Given the description of an element on the screen output the (x, y) to click on. 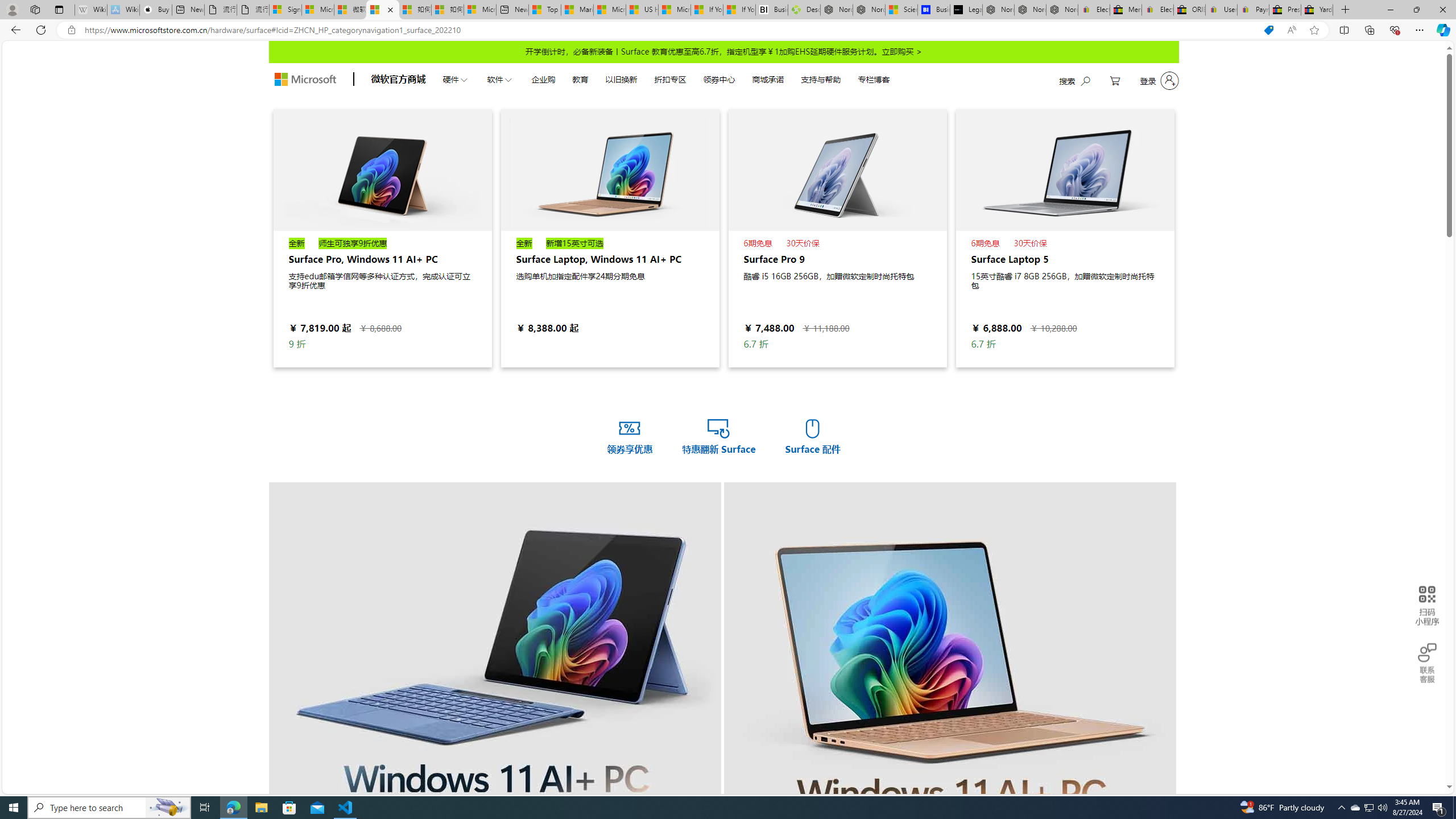
Sign in to your Microsoft account (285, 9)
Marine life - MSN (577, 9)
Microsoft Services Agreement (318, 9)
Add this page to favorites (Ctrl+D) (1314, 29)
Address and search bar (669, 29)
Restore (1416, 9)
